Given the description of an element on the screen output the (x, y) to click on. 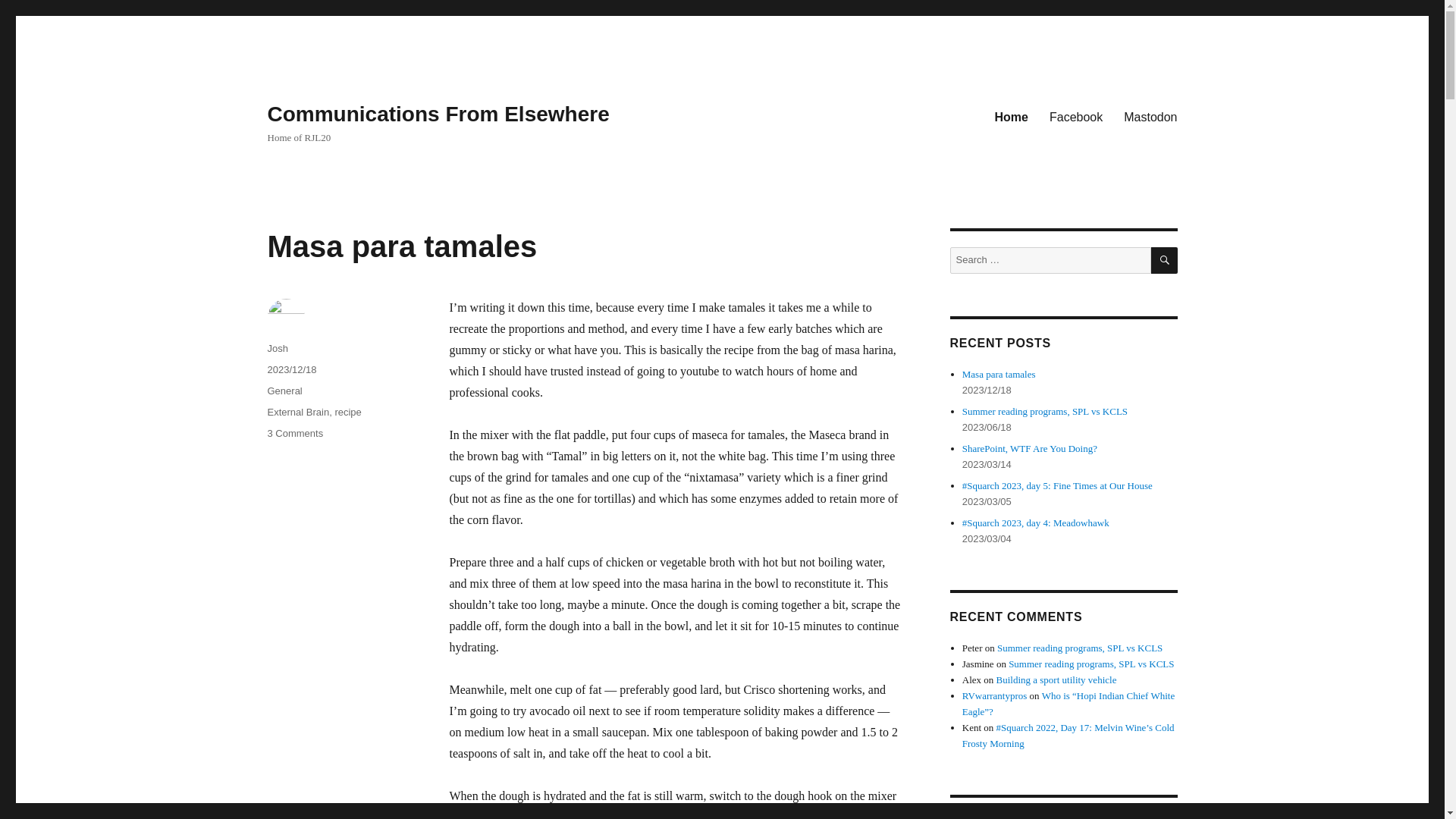
Facebook (1076, 116)
Mastodon (294, 432)
Masa para tamales (1150, 116)
Home (401, 246)
Josh (1011, 116)
General (276, 348)
External Brain (283, 390)
recipe (297, 411)
Communications From Elsewhere (347, 411)
